Given the description of an element on the screen output the (x, y) to click on. 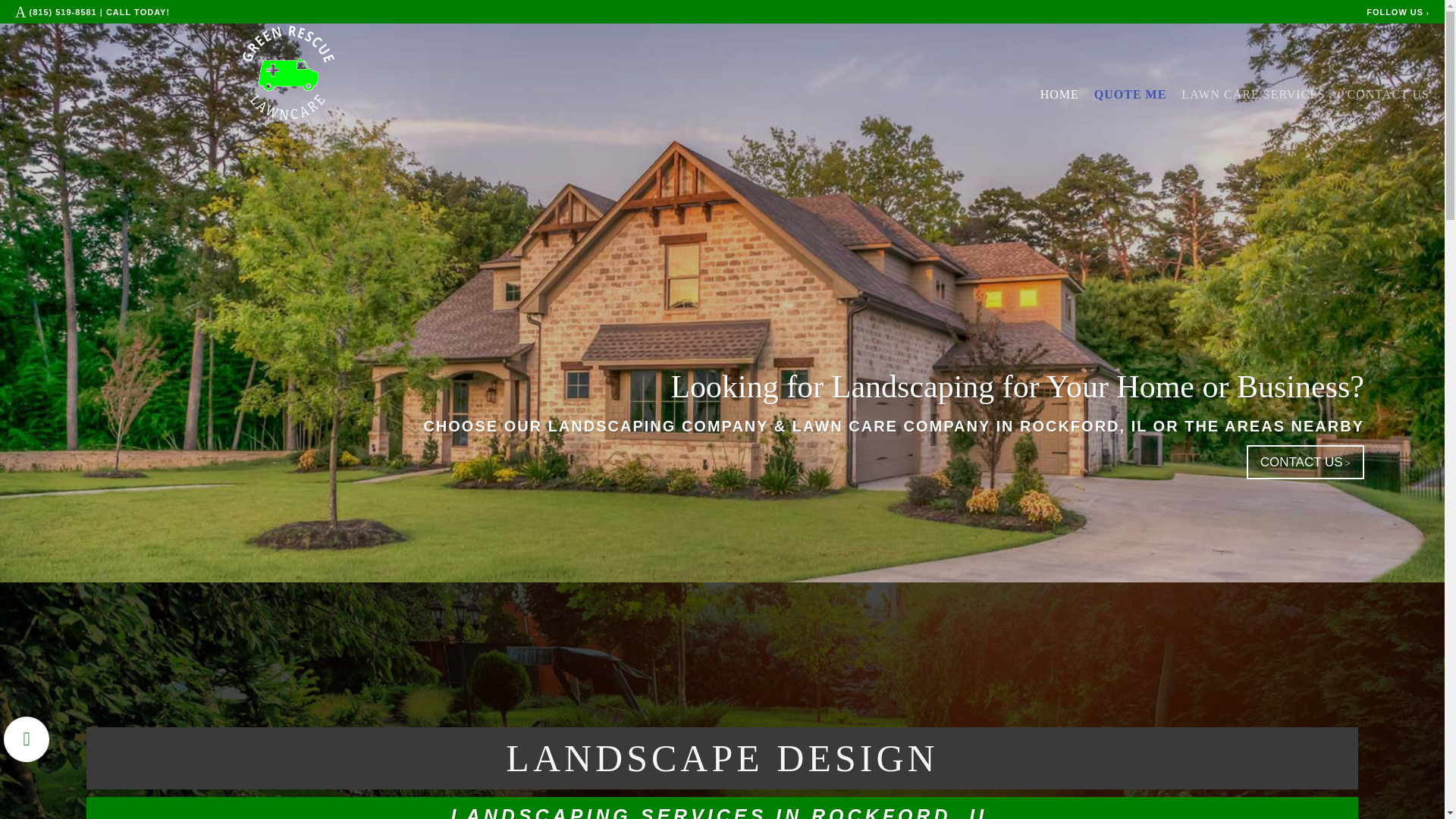
CONTACT US (1305, 462)
Looking for Landscaping for Your Home or Business? (1016, 386)
CONTACT US (1388, 94)
HOME (1059, 94)
QUOTE ME (1130, 94)
